Given the description of an element on the screen output the (x, y) to click on. 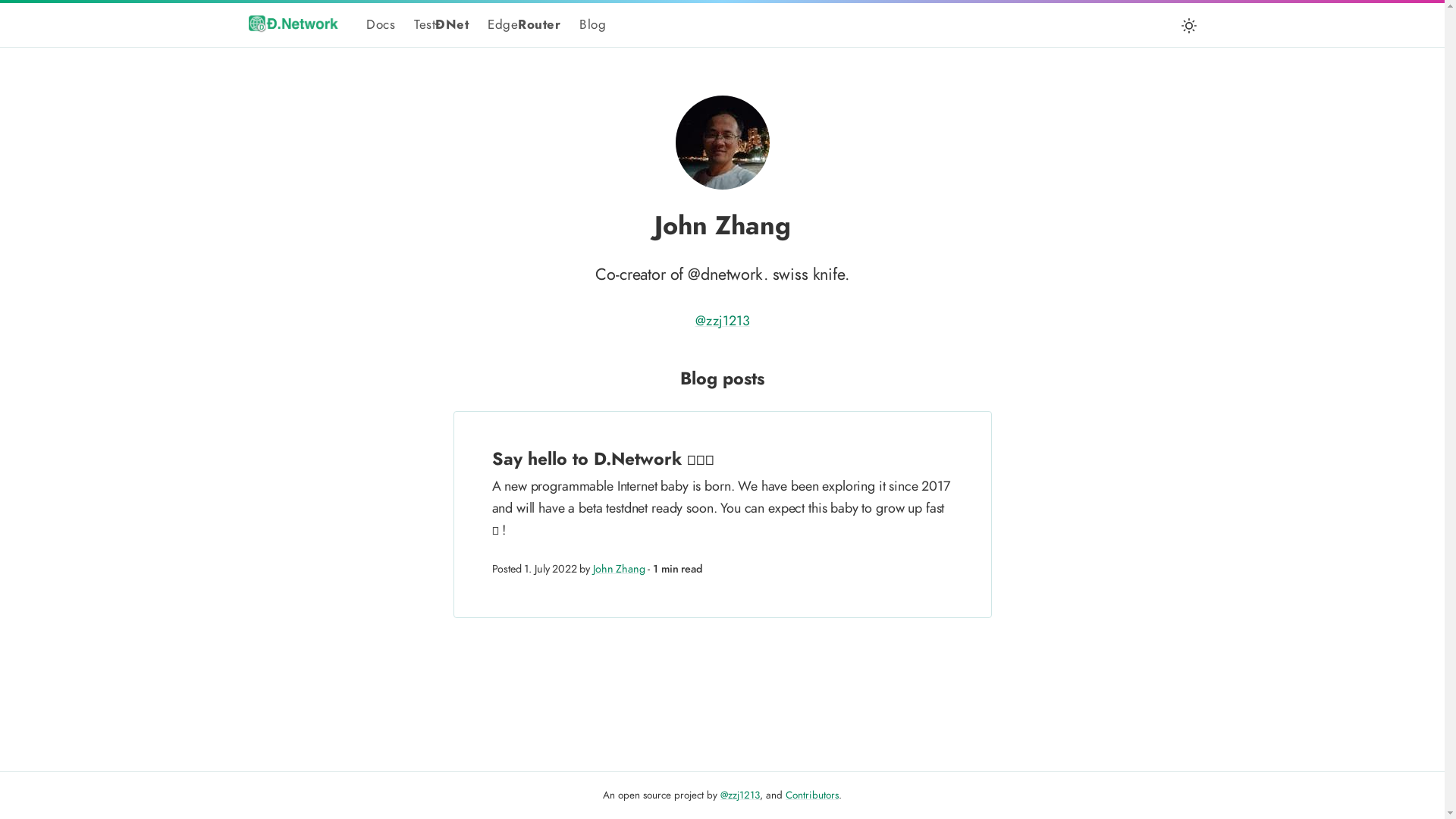
Blog Element type: text (592, 24)
Back to home Element type: hover (294, 22)
Contributors Element type: text (811, 794)
Toggle dark Element type: hover (1188, 25)
Docs Element type: text (380, 24)
EdgeRouter Element type: text (523, 24)
John Zhang Element type: text (619, 568)
@zzj1213 Element type: text (721, 319)
@zzj1213 Element type: text (739, 794)
